Given the description of an element on the screen output the (x, y) to click on. 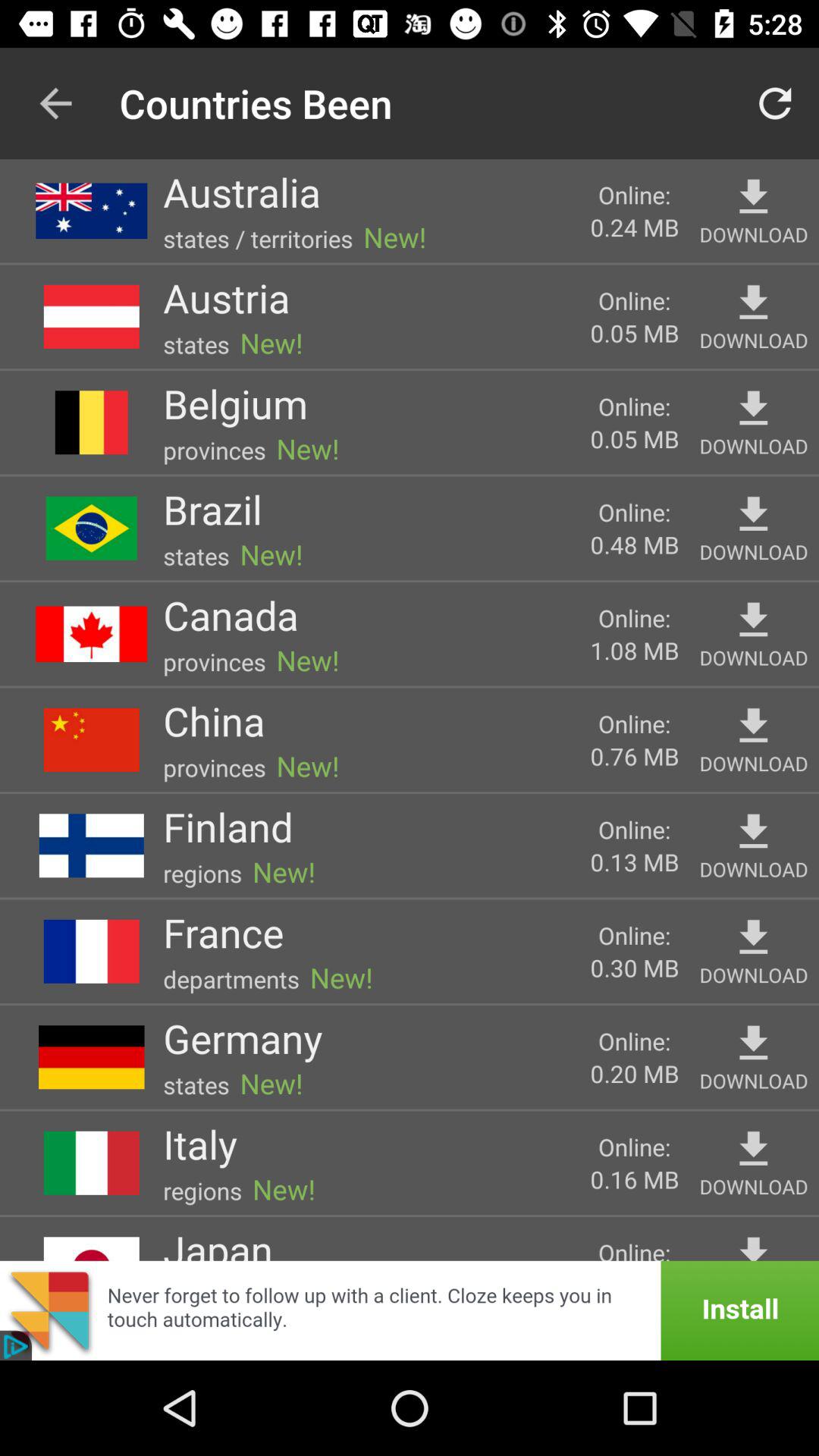
japan download (753, 1245)
